Given the description of an element on the screen output the (x, y) to click on. 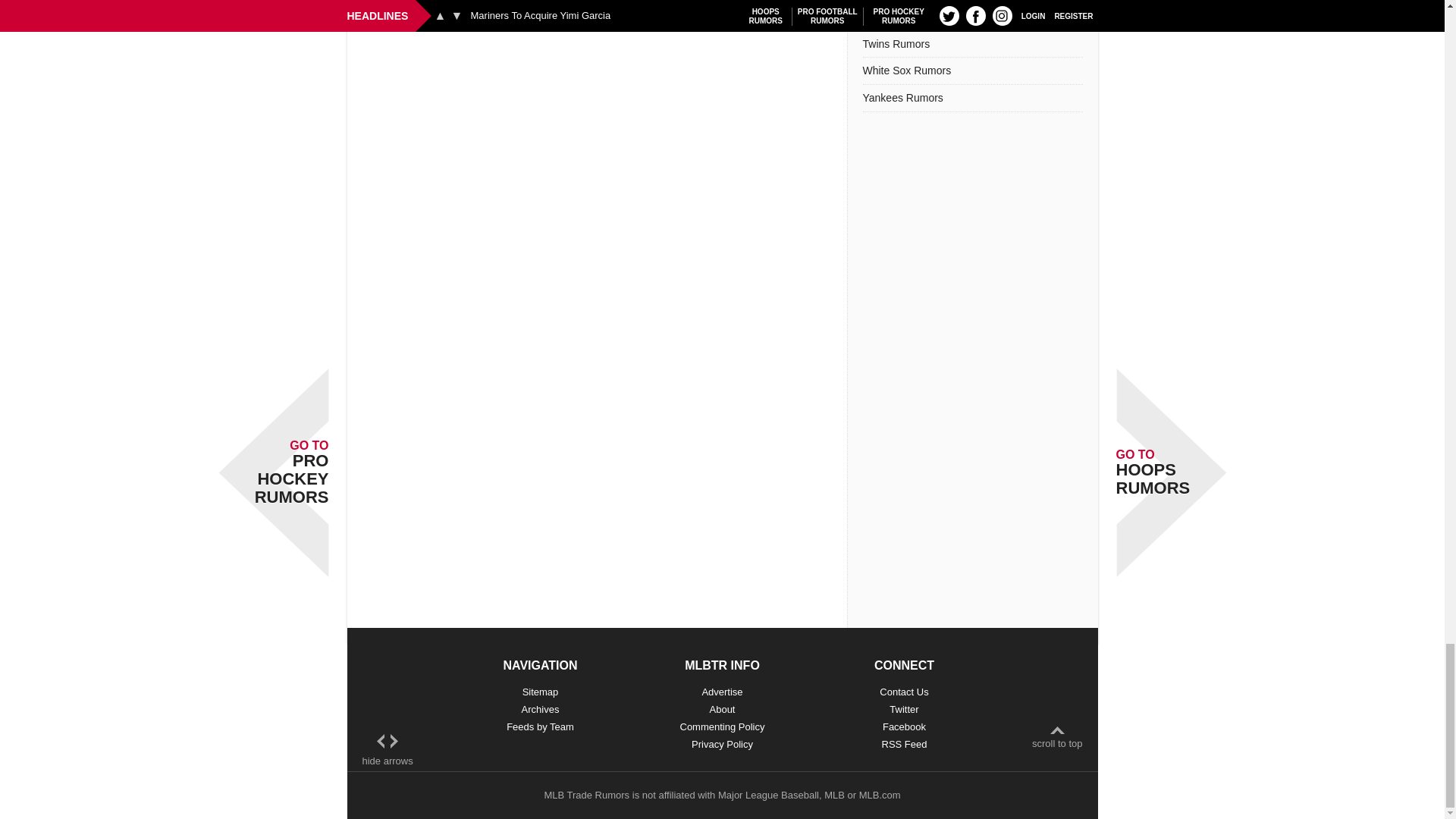
MLB Trade Rumors (585, 794)
